Given the description of an element on the screen output the (x, y) to click on. 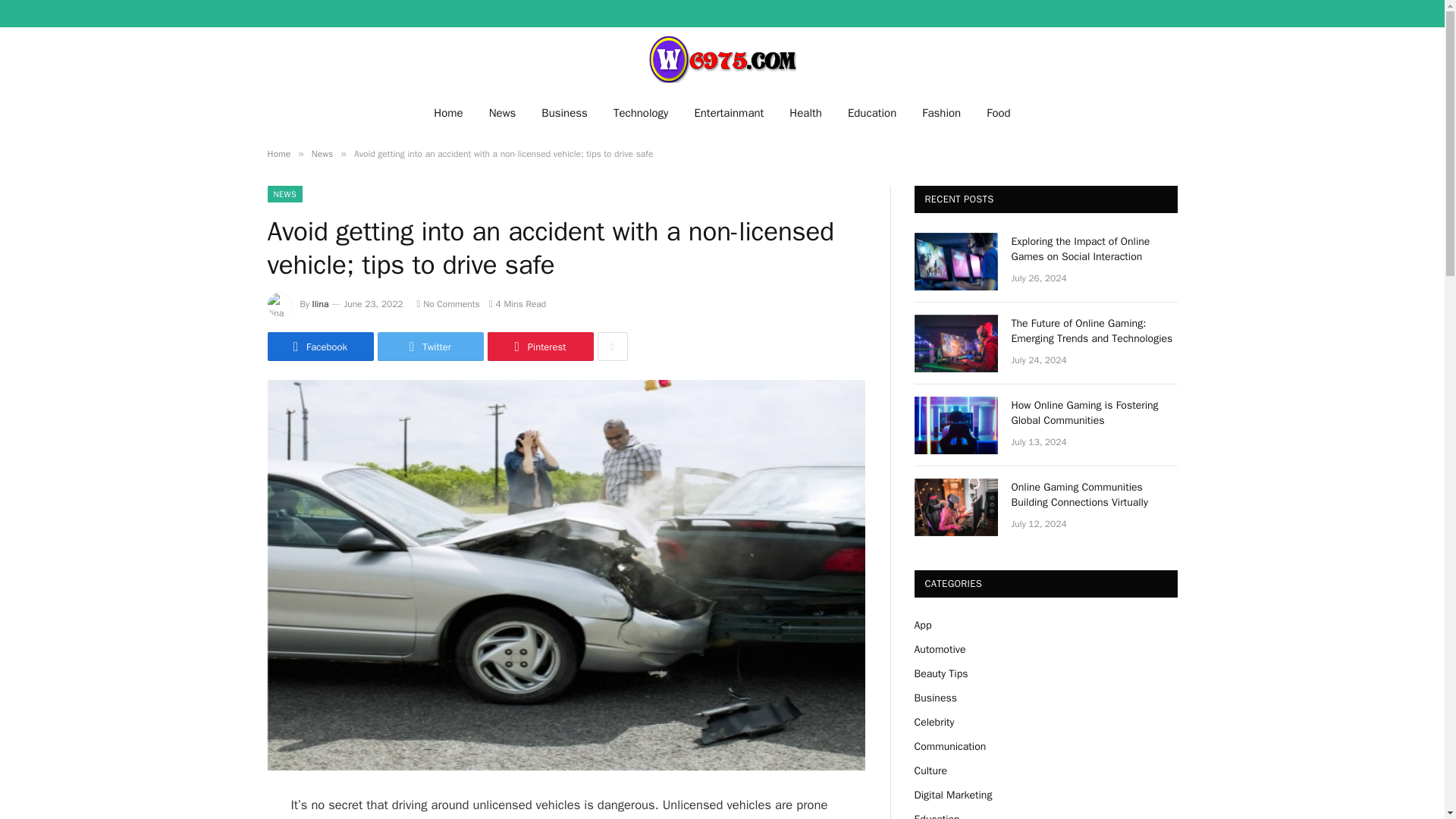
Health (805, 112)
Business (563, 112)
Entertainmant (728, 112)
W6975.com (721, 59)
Twitter (430, 346)
News (502, 112)
Home (448, 112)
Ilina (321, 304)
NEWS (284, 193)
Fashion (941, 112)
News (322, 153)
Share on Pinterest (539, 346)
Technology (640, 112)
Share on Facebook (319, 346)
Food (998, 112)
